Given the description of an element on the screen output the (x, y) to click on. 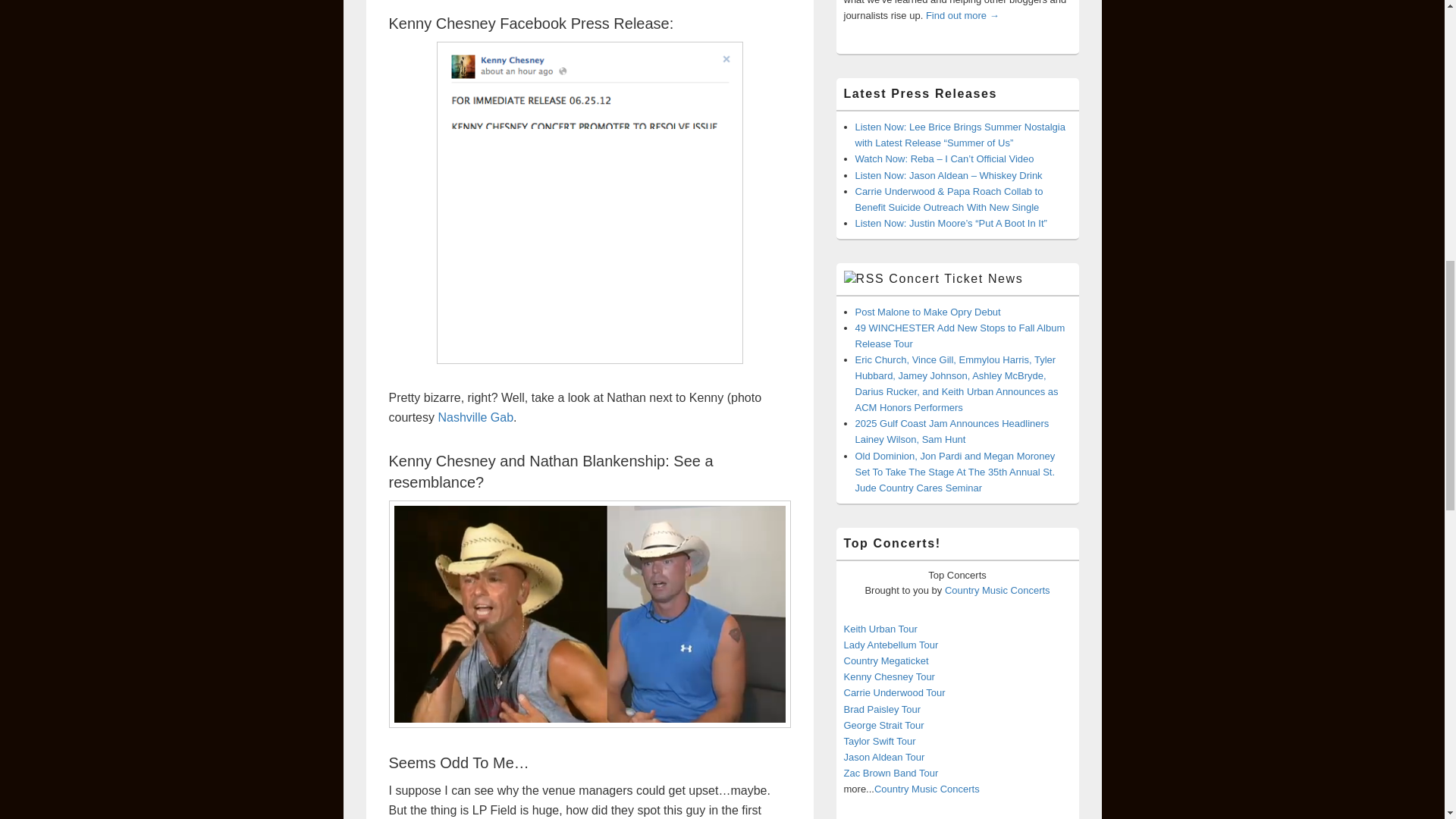
Concert Ticket News (955, 278)
Nashville Gab (475, 417)
kenny-nathan (589, 614)
 Keith Urban Tour (880, 628)
Country Music Concerts (996, 590)
kenny-chesney-status-update (589, 202)
Lady Antebellum Tour (890, 644)
Post Malone to Make Opry Debut (928, 311)
